Given the description of an element on the screen output the (x, y) to click on. 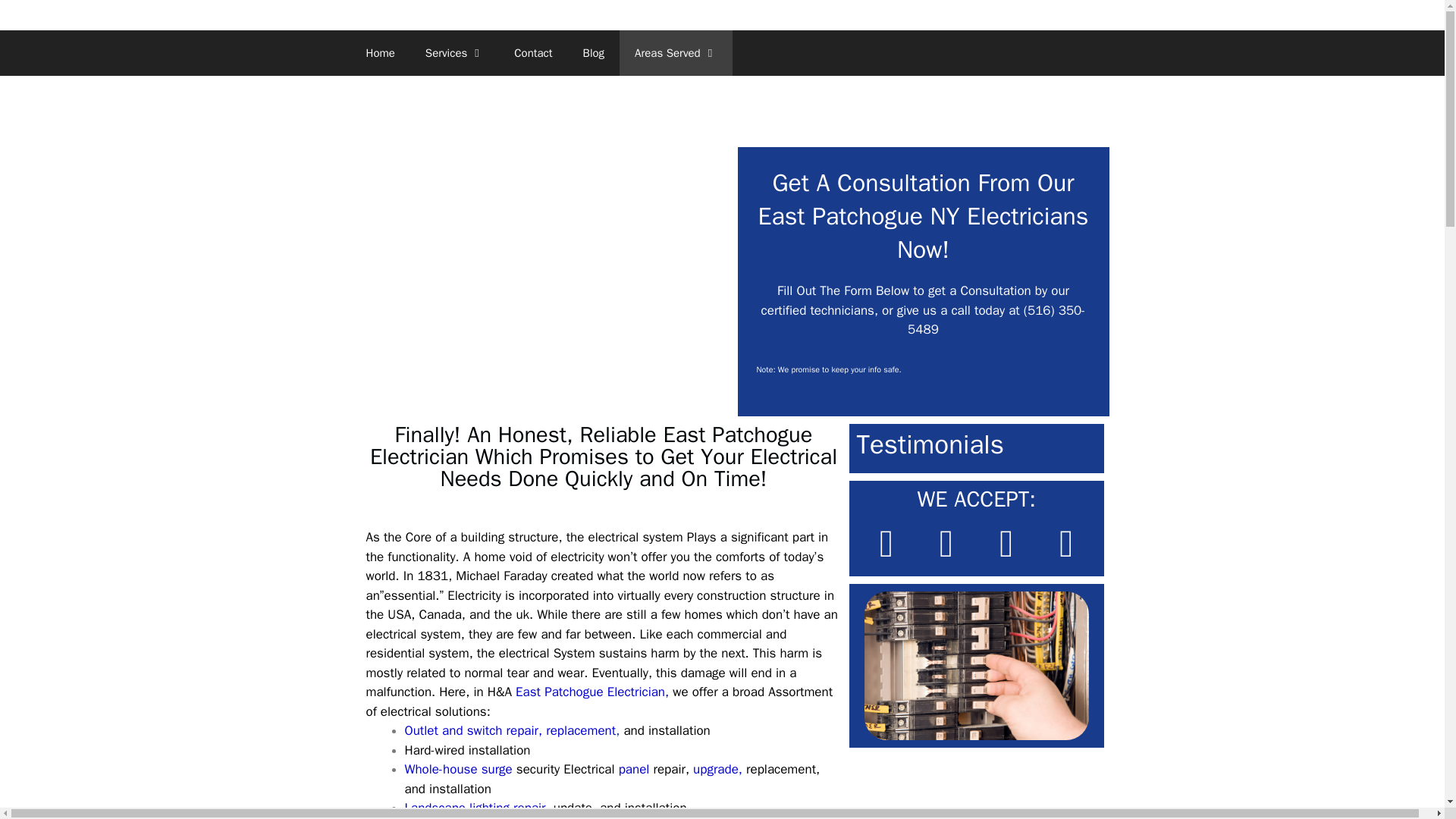
Blog (593, 53)
Contact (533, 53)
Areas Served (676, 53)
Home (379, 53)
Services (454, 53)
